Given the description of an element on the screen output the (x, y) to click on. 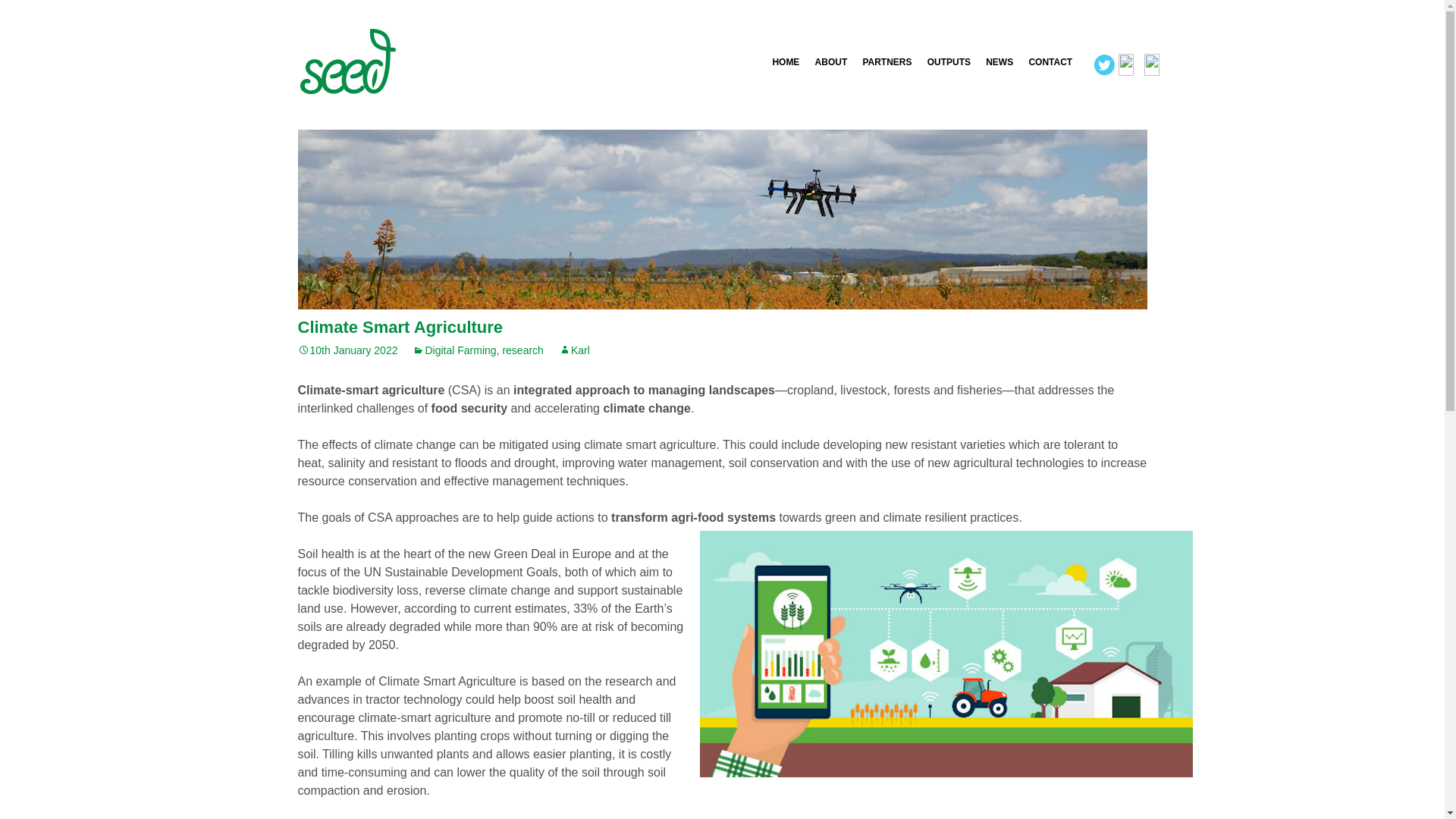
View all posts by Karl (574, 349)
HOME (785, 62)
OUTPUTS (948, 62)
PARTNERS (886, 62)
NEWS (999, 62)
research (522, 349)
10th January 2022 (347, 349)
Digital Farming (454, 349)
CONTACT (1050, 62)
ABOUT (831, 62)
Karl (574, 349)
Permalink to Climate Smart Agriculture (347, 349)
